Given the description of an element on the screen output the (x, y) to click on. 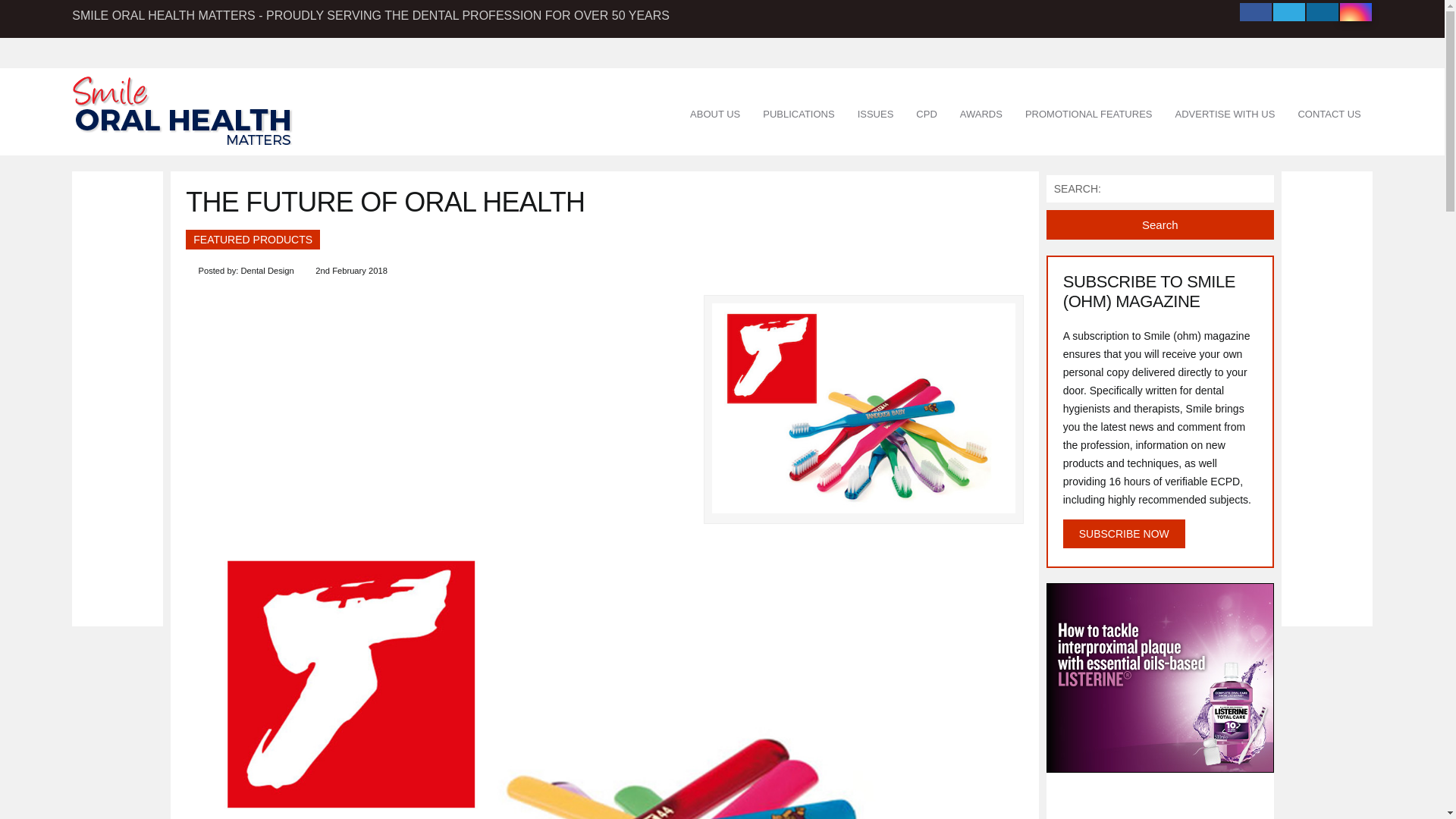
PROMOTIONAL FEATURES (1088, 114)
SUBSCRIBE NOW (1123, 533)
PUBLICATIONS (798, 114)
ISSUES (875, 114)
ABOUT US (714, 114)
CPD (925, 114)
Search (1160, 224)
Search (1160, 224)
AWARDS (981, 114)
CONTACT US (1328, 114)
ADVERTISE WITH US (1224, 114)
